Given the description of an element on the screen output the (x, y) to click on. 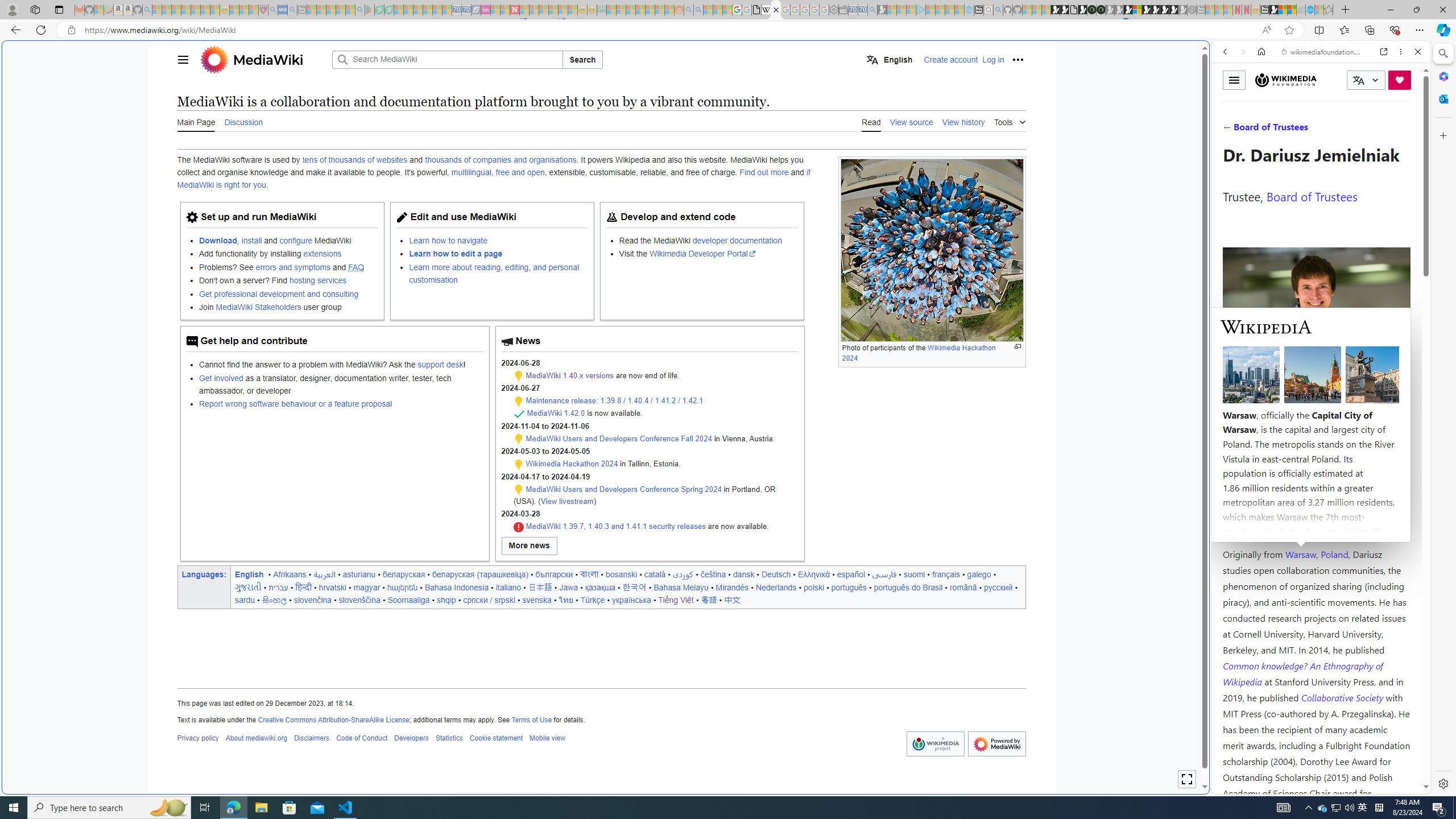
Add functionality by installing extensions (288, 253)
Learn how to edit a page (498, 253)
About mediawiki.org (255, 738)
Common knowledge? An Ethnography of Wikipedia (1302, 672)
Mobile view (546, 738)
World - MSN (1283, 9)
View source (911, 120)
Toggle limited content width (1186, 778)
magyar (366, 587)
